Given the description of an element on the screen output the (x, y) to click on. 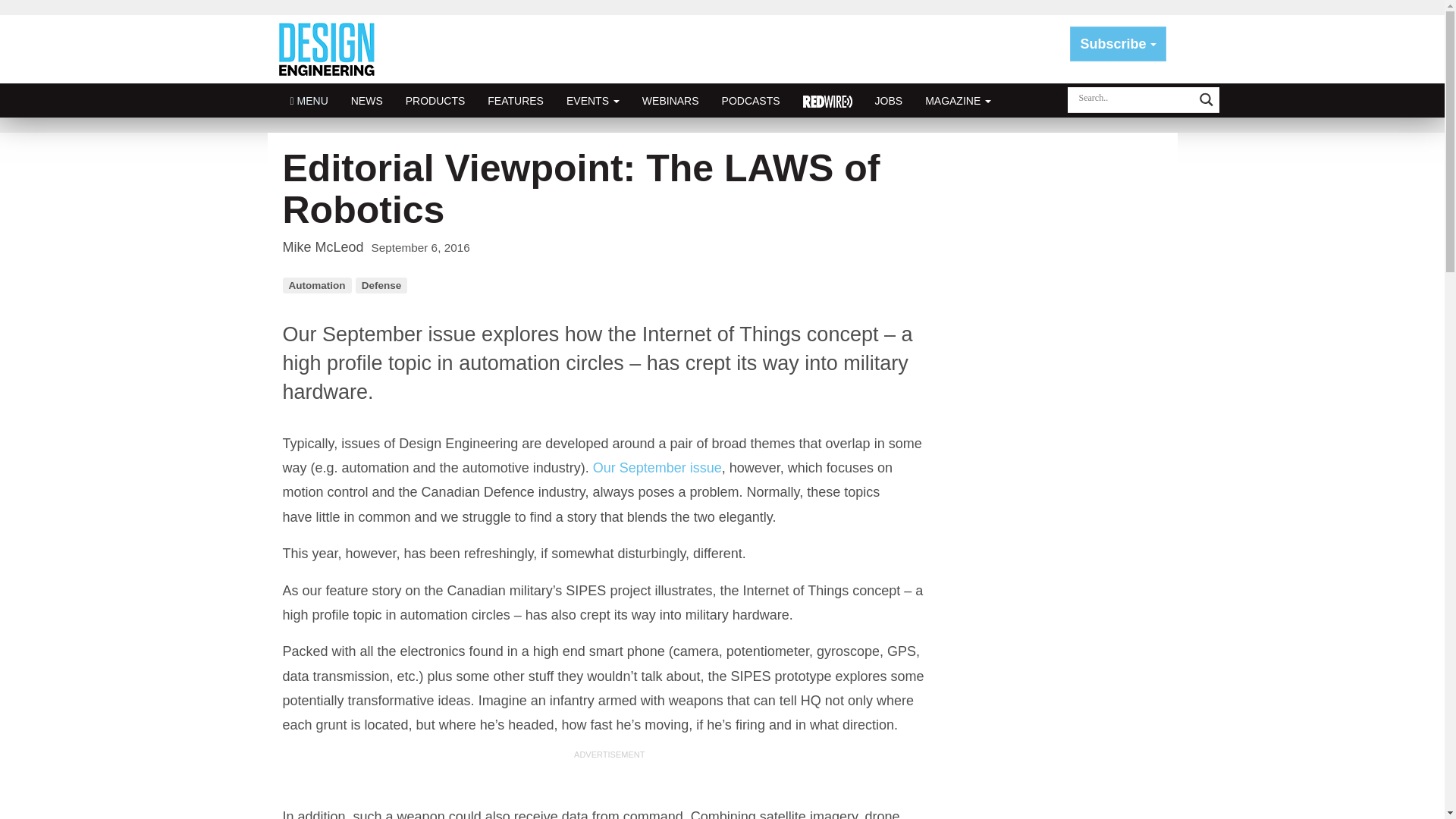
Design Engineering (332, 48)
PODCASTS (751, 100)
WEBINARS (670, 100)
FEATURES (515, 100)
EVENTS (592, 100)
PRODUCTS (435, 100)
Click to show site navigation (309, 100)
MAGAZINE (958, 100)
MENU (309, 100)
NEWS (366, 100)
JOBS (888, 100)
Subscribe (1118, 43)
